Given the description of an element on the screen output the (x, y) to click on. 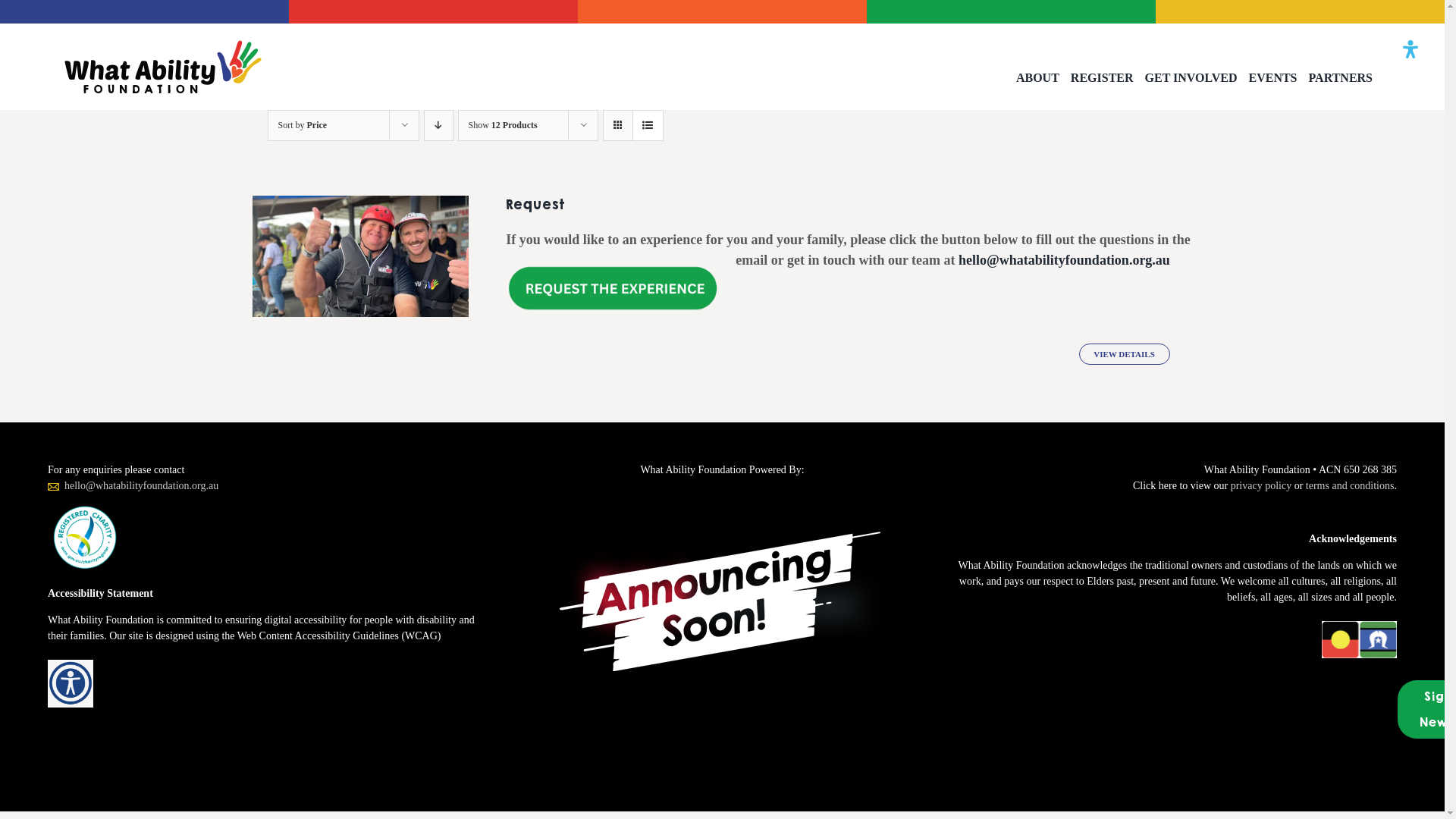
terms and conditions Element type: text (1349, 485)
privacy policy Element type: text (1260, 485)
Show 12 Products Element type: text (502, 124)
hello@whatabilityfoundation.org.au Element type: text (141, 485)
ABOUT Element type: text (1037, 77)
hello@whatabilityfoundation.org.au Element type: text (1064, 259)
VIEW DETAILS Element type: text (1123, 353)
GET INVOLVED Element type: text (1191, 77)
REGISTER Element type: text (1101, 77)
Sort by Price Element type: text (301, 124)
PARTNERS Element type: text (1340, 77)
EVENTS Element type: text (1272, 77)
Request Element type: text (535, 203)
